Given the description of an element on the screen output the (x, y) to click on. 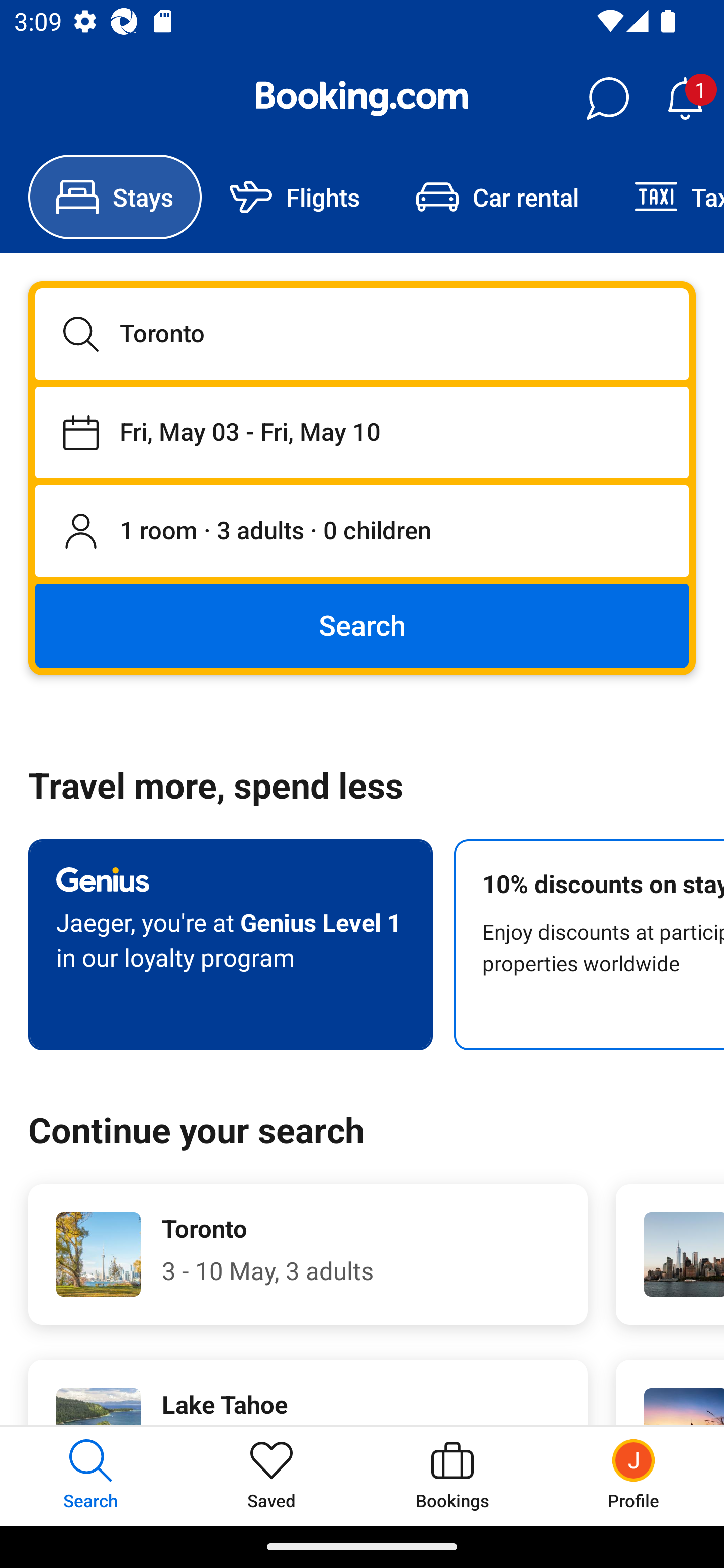
Messages (607, 98)
Notifications (685, 98)
Stays (114, 197)
Flights (294, 197)
Car rental (497, 197)
Taxi (665, 197)
Toronto (361, 333)
Staying from Fri, May 03 until Fri, May 10 (361, 432)
1 room, 3 adults, 0 children (361, 531)
Search (361, 625)
Toronto 3 - 10 May, 3 adults (307, 1253)
Saved (271, 1475)
Bookings (452, 1475)
Profile (633, 1475)
